Given the description of an element on the screen output the (x, y) to click on. 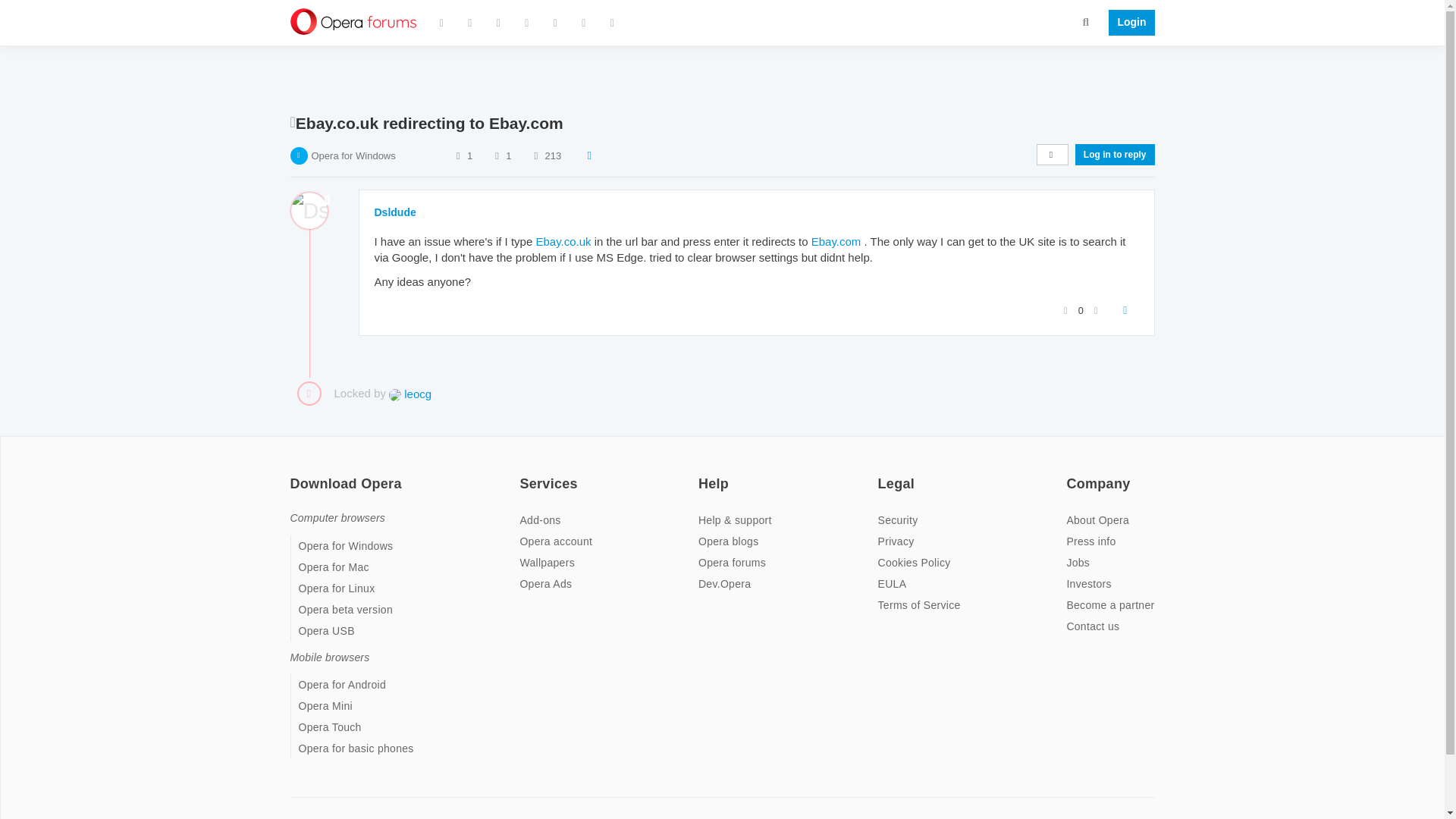
Views (535, 155)
Posters (457, 155)
Search (1085, 21)
Log in to reply (1114, 154)
Login (1127, 22)
on (1070, 473)
Dsldude (395, 212)
Ebay.co.uk (563, 241)
on (523, 473)
Opera for Windows (352, 155)
